Given the description of an element on the screen output the (x, y) to click on. 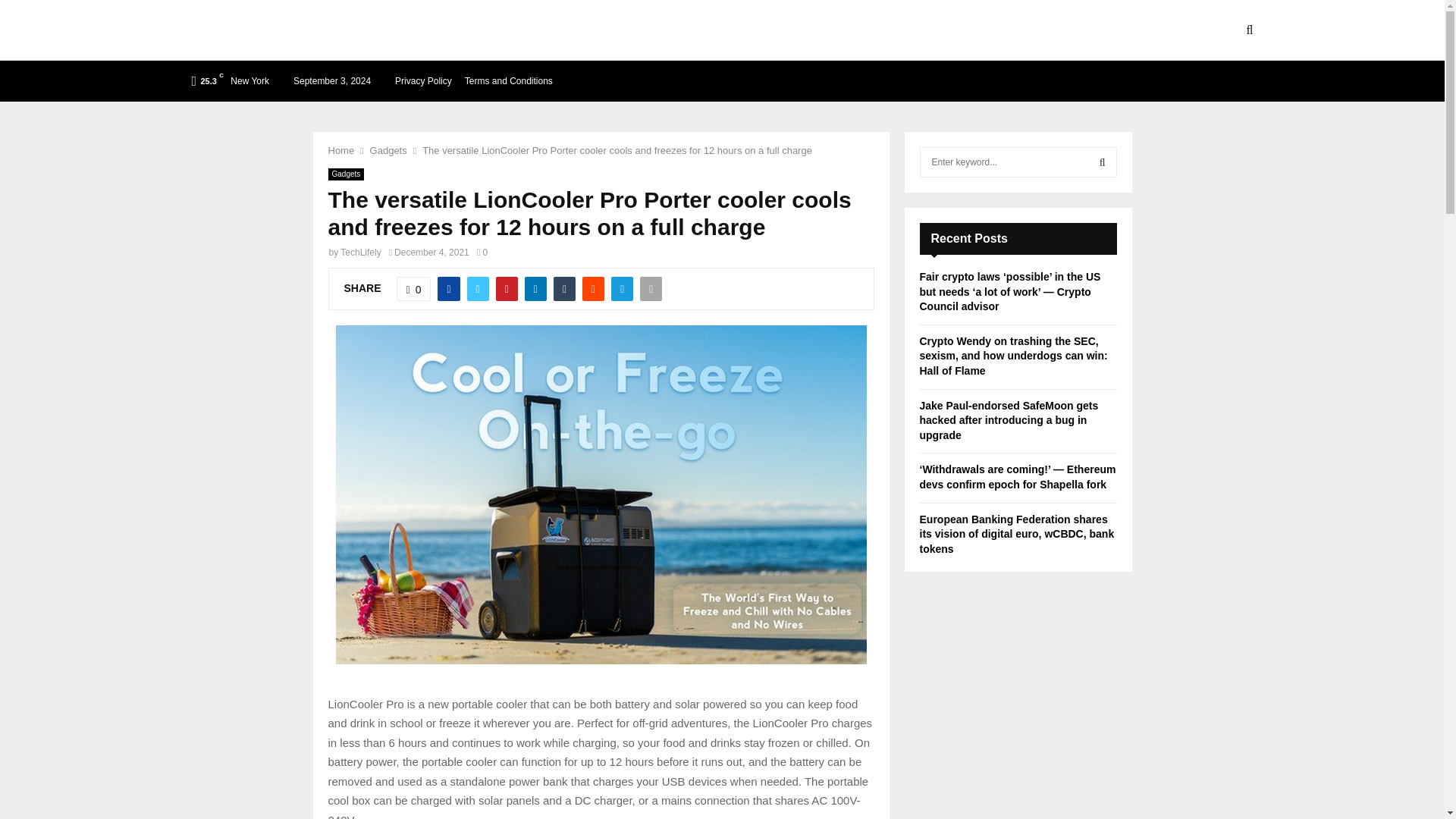
Techlifely (273, 30)
TechLifely (360, 252)
Privacy Policy (422, 80)
0 (482, 252)
HOME TECH (612, 30)
0 (413, 288)
Gadgets (345, 174)
Terms and Conditions (508, 80)
Home (340, 150)
Like (413, 288)
